Given the description of an element on the screen output the (x, y) to click on. 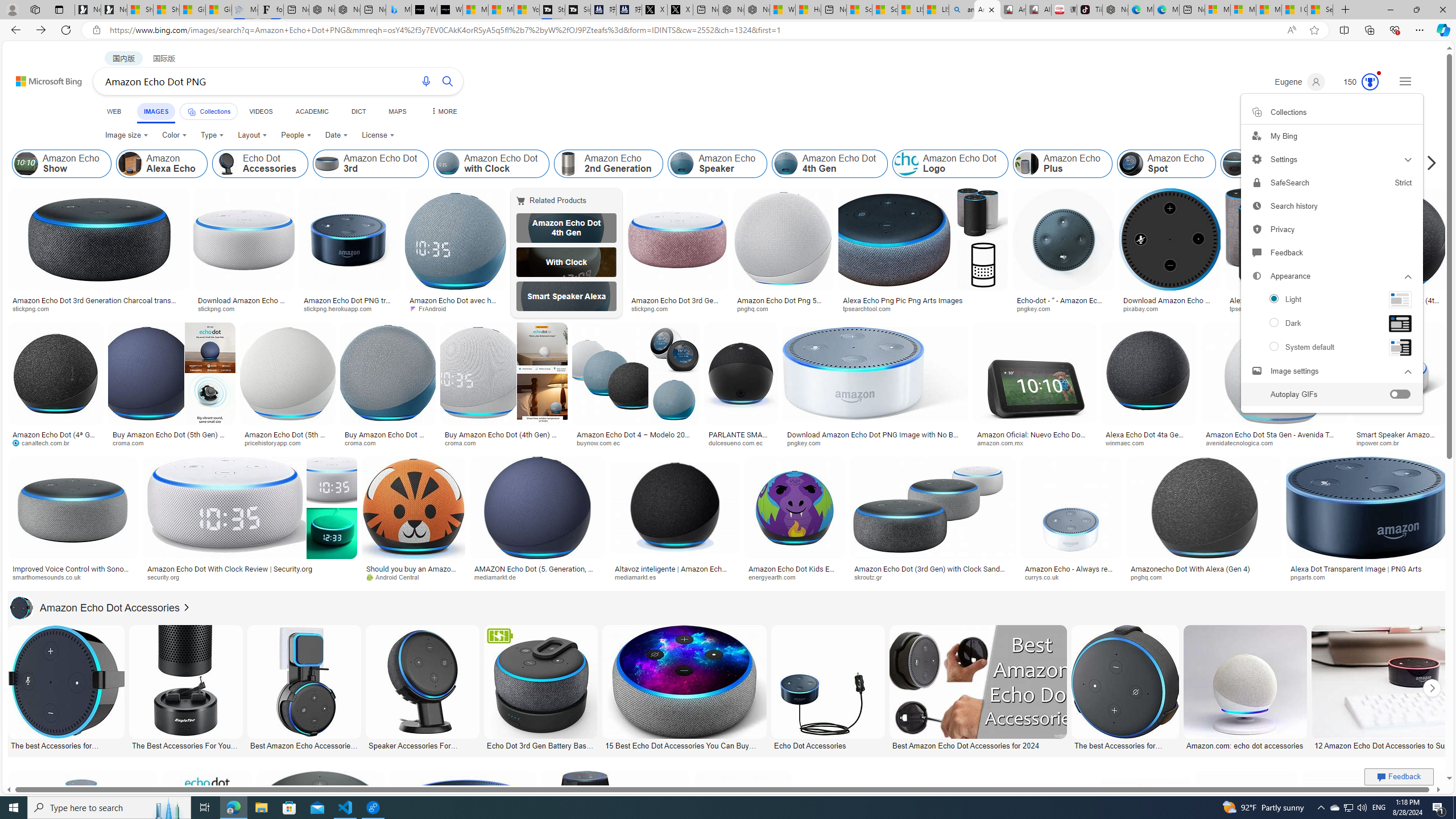
Best Amazon Echo Accessories - Tech Advisor (304, 744)
buynow.com.ec (601, 442)
Amazon Echo Dot 3 (1278, 163)
Wildlife - MSN (782, 9)
canaltech.com.br (45, 442)
Feedback (1399, 776)
Android Central (396, 576)
Autoplay GIFs (1331, 394)
croma.com (463, 442)
Settings (1331, 159)
